Given the description of an element on the screen output the (x, y) to click on. 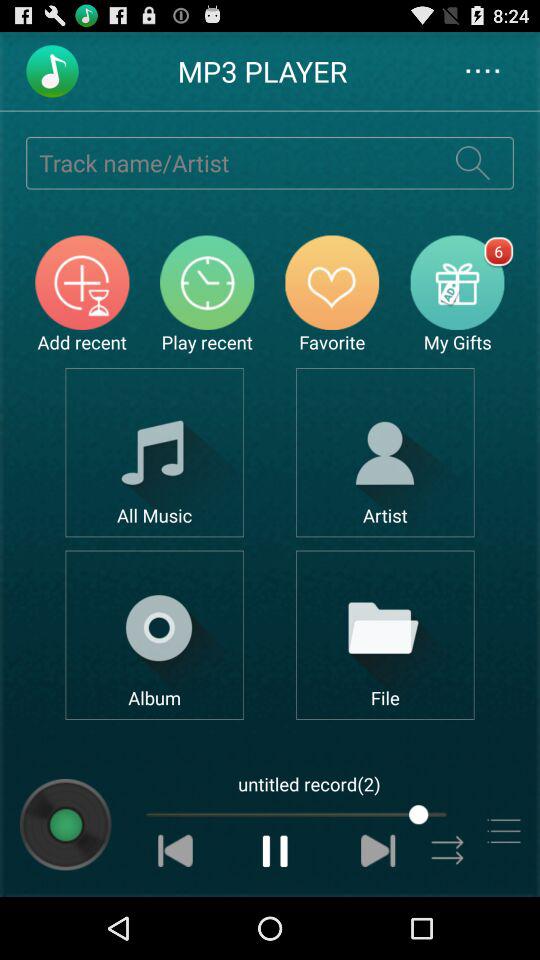
show album information (65, 824)
